Given the description of an element on the screen output the (x, y) to click on. 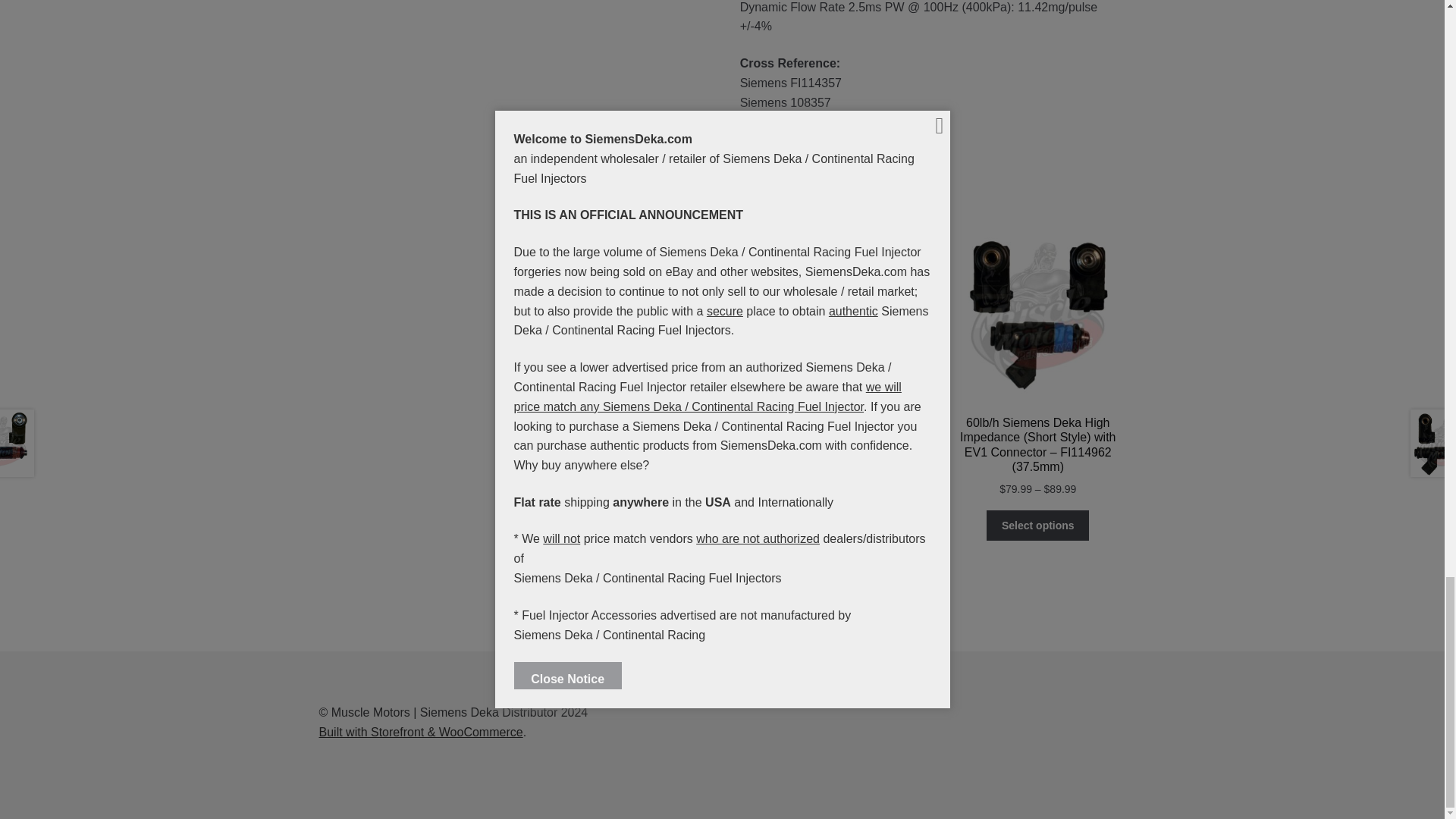
WooCommerce - The Best eCommerce Platform for WordPress (420, 731)
